Given the description of an element on the screen output the (x, y) to click on. 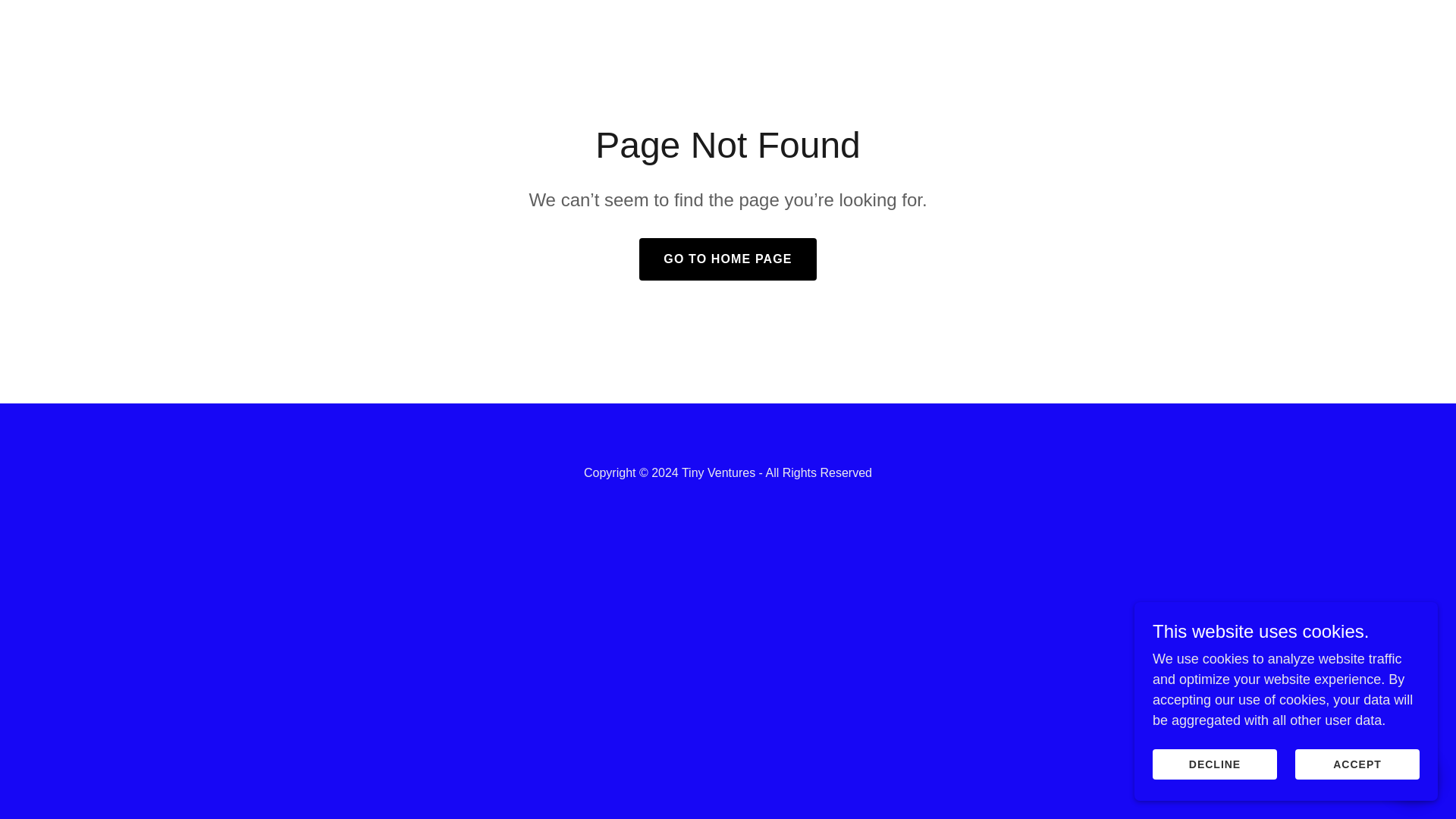
ACCEPT (1357, 764)
DECLINE (1214, 764)
GO TO HOME PAGE (727, 259)
